Given the description of an element on the screen output the (x, y) to click on. 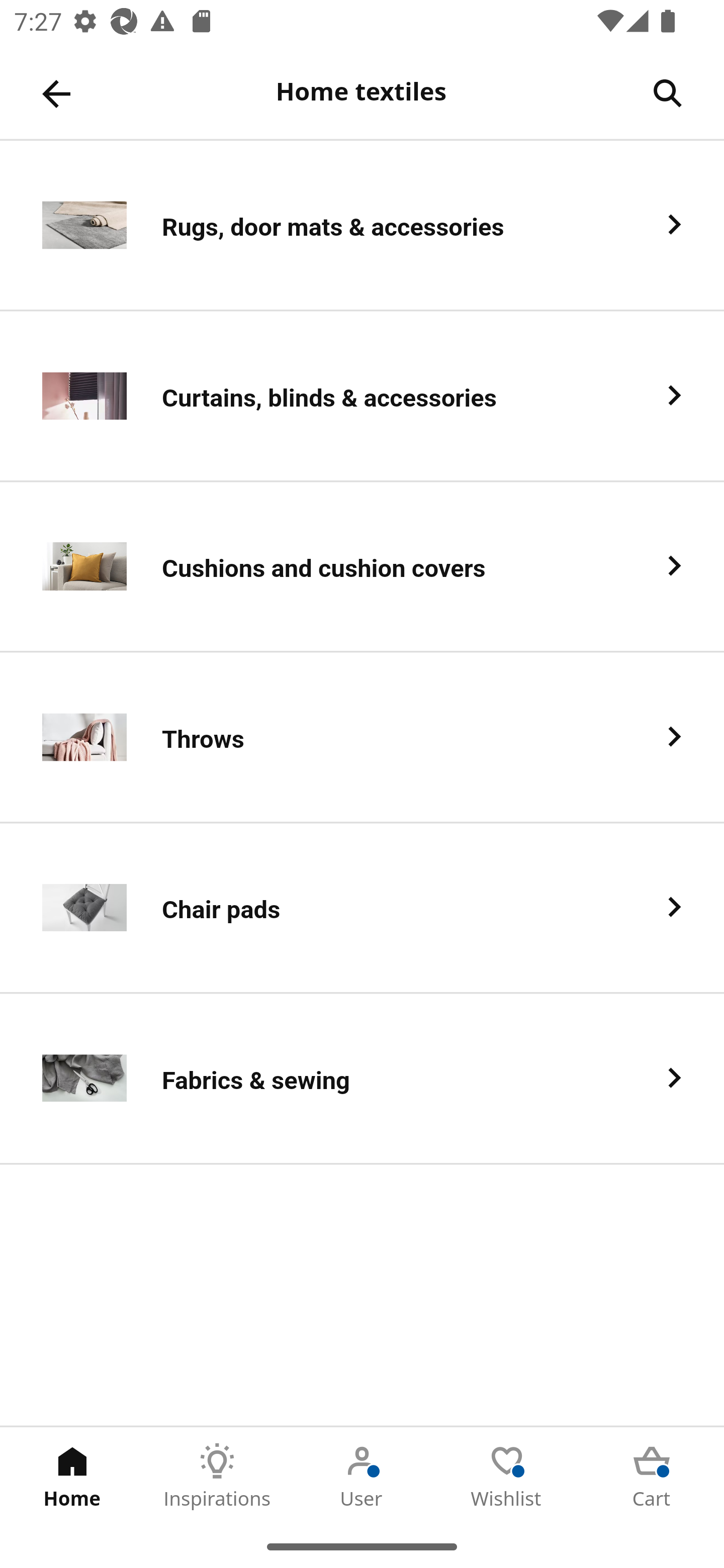
Rugs, door mats & accessories (362, 226)
Curtains, blinds & accessories (362, 396)
Cushions and cushion covers (362, 566)
Throws (362, 737)
Chair pads (362, 908)
Fabrics & sewing (362, 1079)
Home
Tab 1 of 5 (72, 1476)
Inspirations
Tab 2 of 5 (216, 1476)
User
Tab 3 of 5 (361, 1476)
Wishlist
Tab 4 of 5 (506, 1476)
Cart
Tab 5 of 5 (651, 1476)
